Given the description of an element on the screen output the (x, y) to click on. 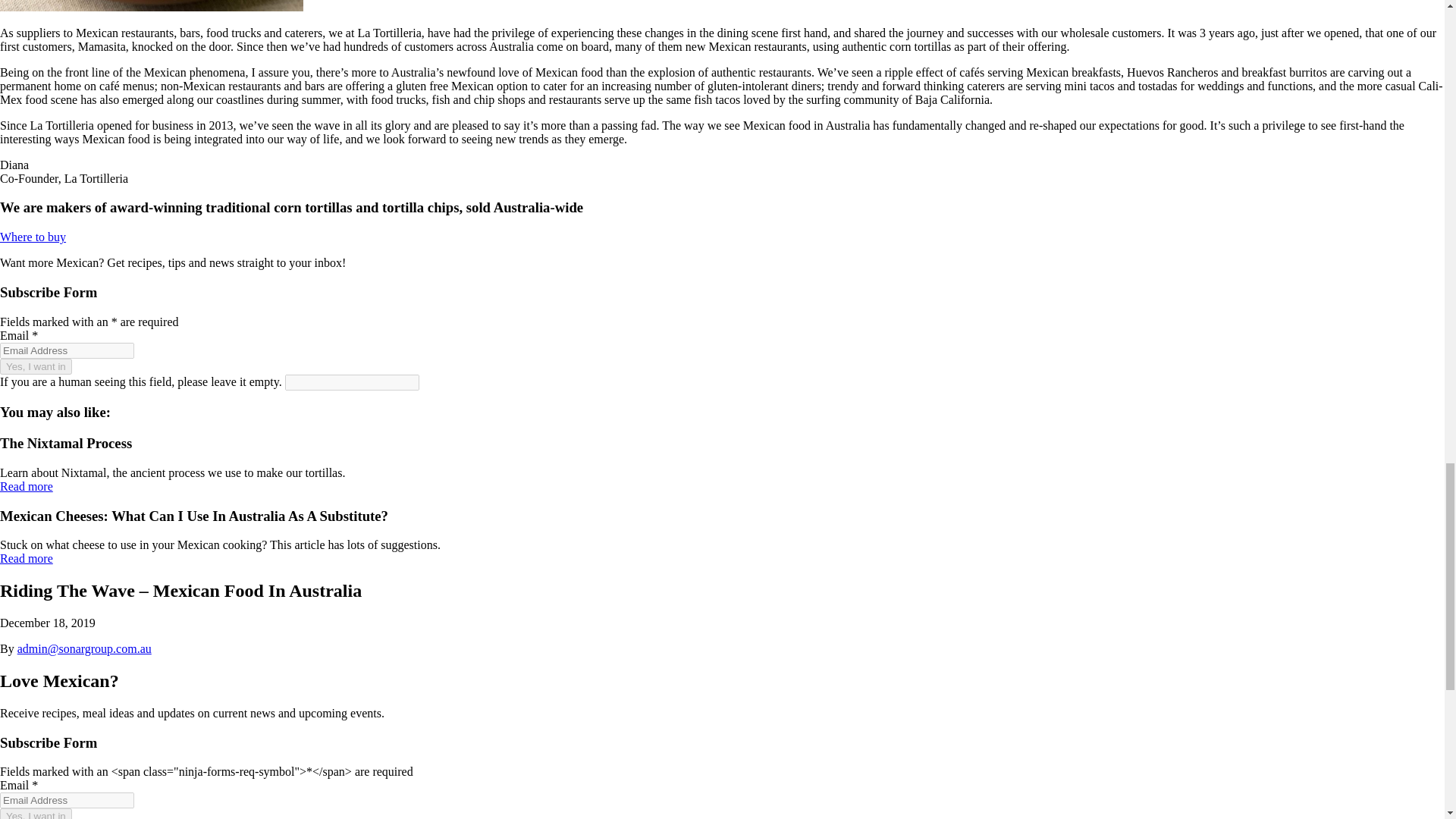
Yes, I want in (35, 813)
Read more (26, 558)
Read more (26, 486)
Yes, I want in (35, 366)
Yes, I want in (35, 813)
Yes, I want in (35, 366)
Where to buy (32, 236)
